Given the description of an element on the screen output the (x, y) to click on. 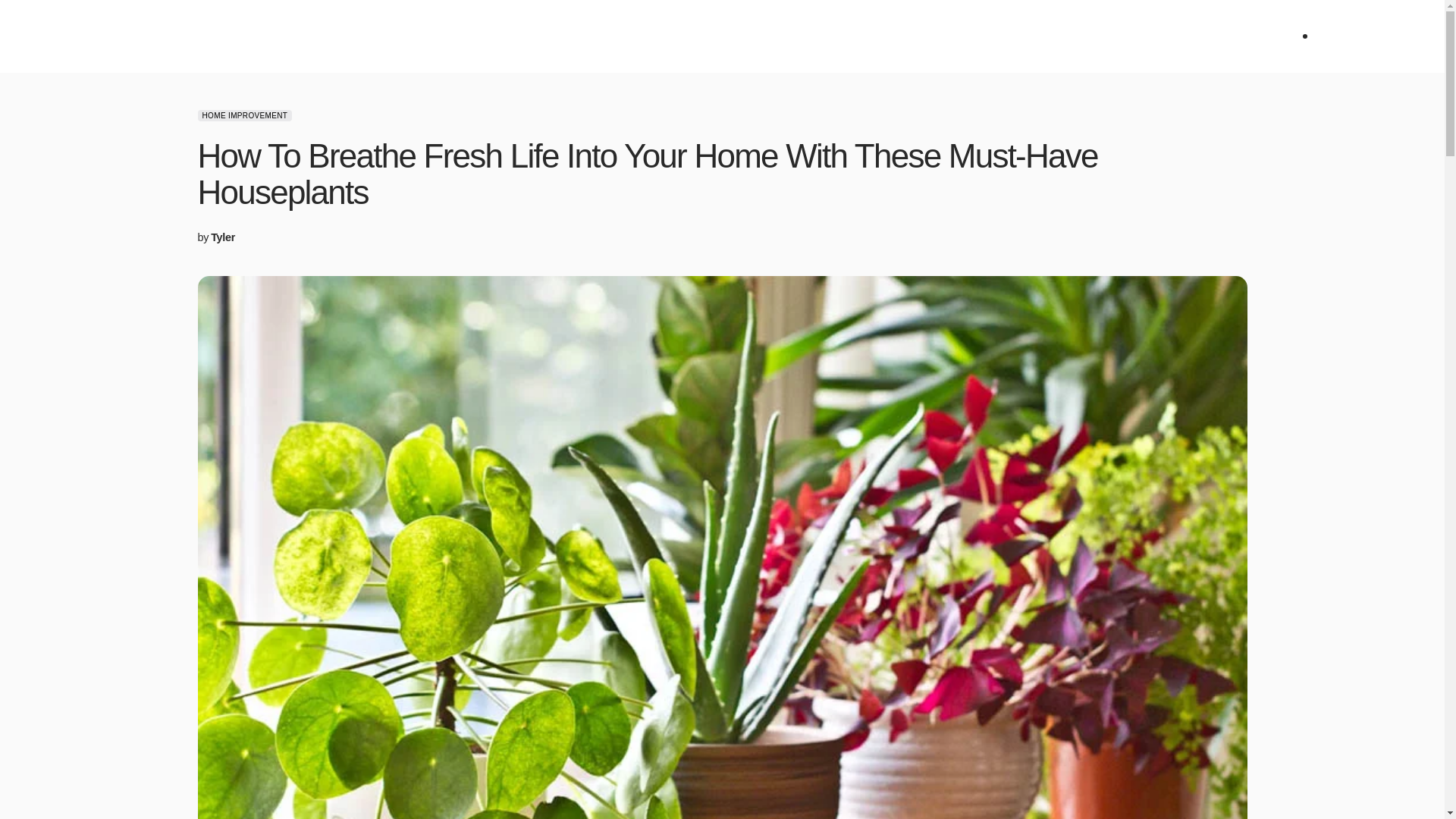
HOME IMPROVEMENT (454, 36)
FASHION BEAUTY (337, 36)
Memprize (102, 35)
View all posts by Tyler (222, 238)
